Given the description of an element on the screen output the (x, y) to click on. 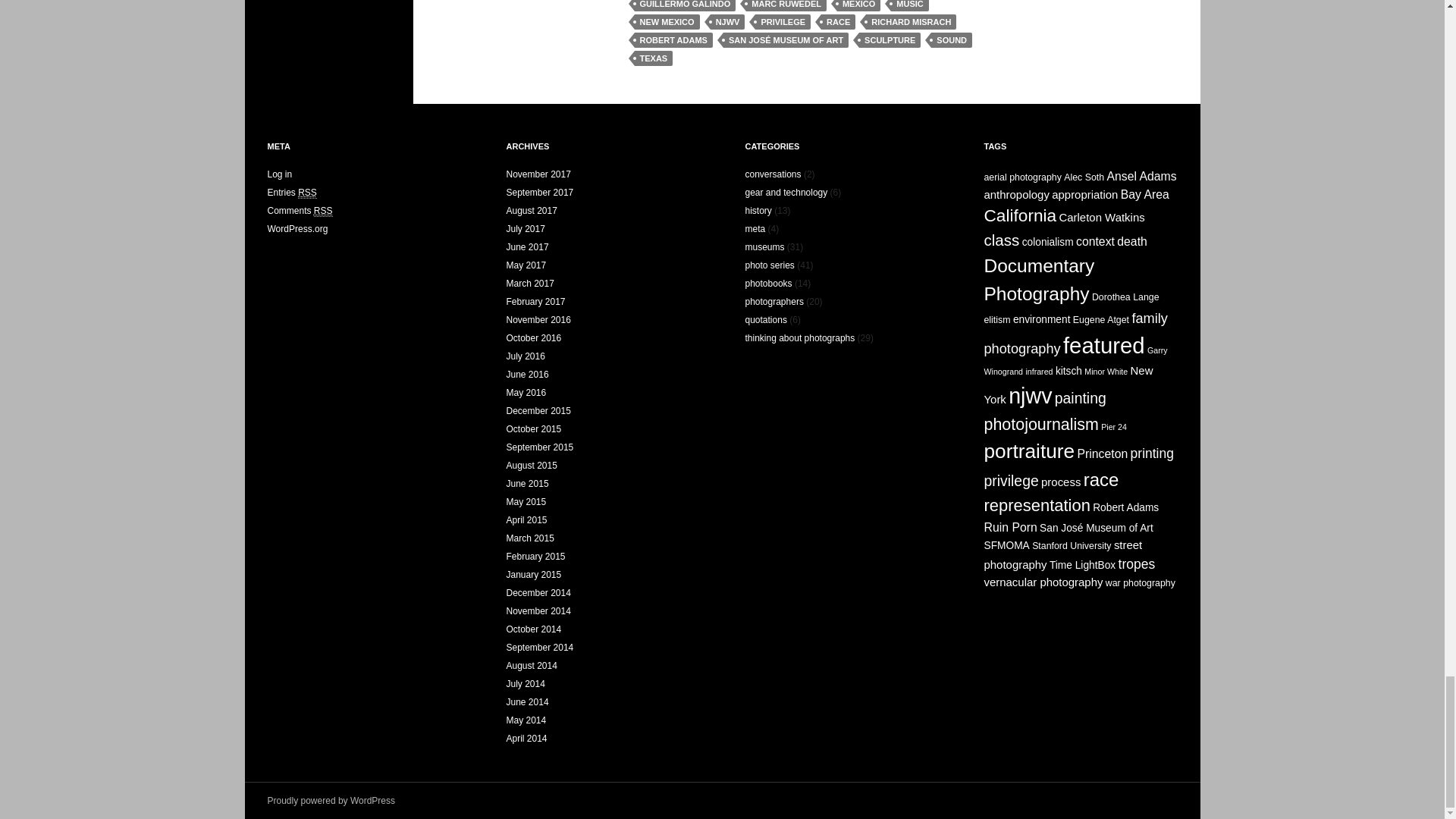
Really Simple Syndication (323, 211)
7 topics (1141, 175)
7 topics (1145, 194)
19 topics (1020, 215)
Really Simple Syndication (307, 193)
5 topics (1048, 242)
4 topics (1083, 176)
6 topics (1101, 216)
6 topics (1016, 194)
